Given the description of an element on the screen output the (x, y) to click on. 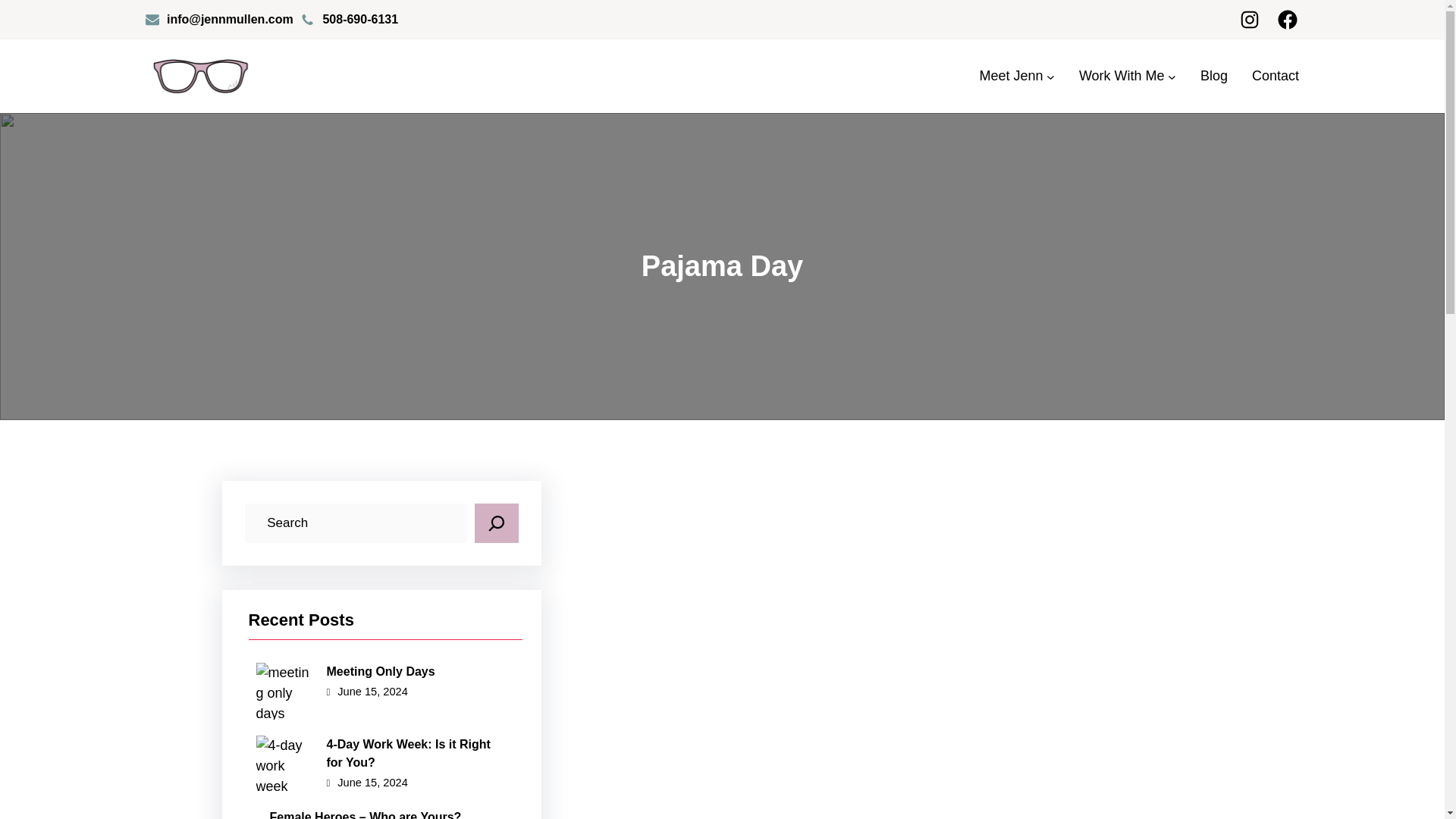
Facebook (1287, 19)
Meet Jenn (1011, 75)
Blog (1213, 75)
Work With Me (1121, 75)
4-Day Work Week: Is it Right for You? (382, 753)
Contact (1275, 75)
Meeting Only Days (382, 671)
Instagram (1249, 19)
508-690-6131 (359, 19)
